Given the description of an element on the screen output the (x, y) to click on. 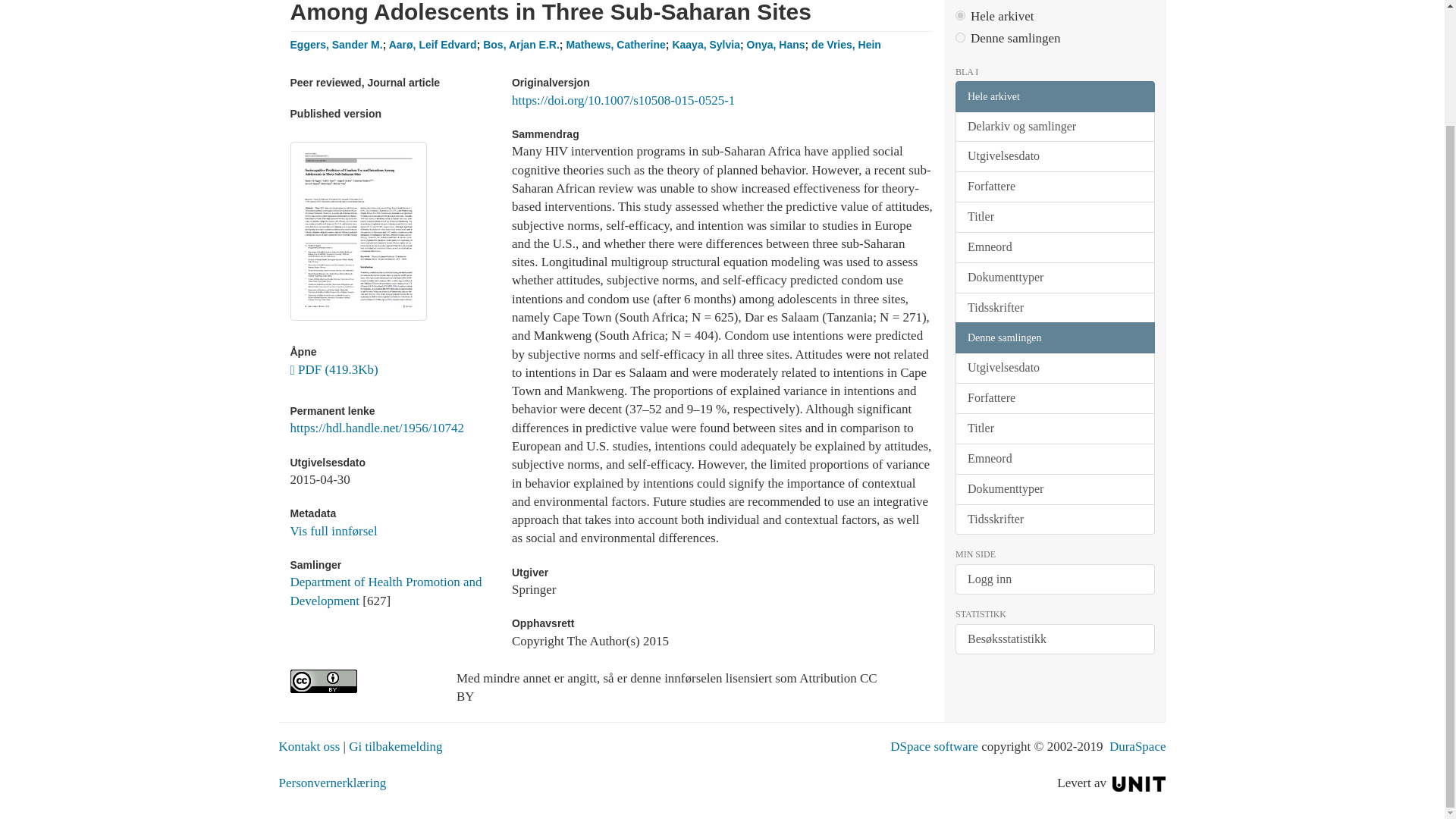
Kaaya, Sylvia (705, 44)
Attribution CC BY (360, 680)
Onya, Hans (775, 44)
Bos, Arjan E.R. (521, 44)
Mathews, Catherine (615, 44)
Department of Health Promotion and Development (385, 590)
Unit (1139, 782)
Eggers, Sander M. (335, 44)
de Vries, Hein (845, 44)
